Given the description of an element on the screen output the (x, y) to click on. 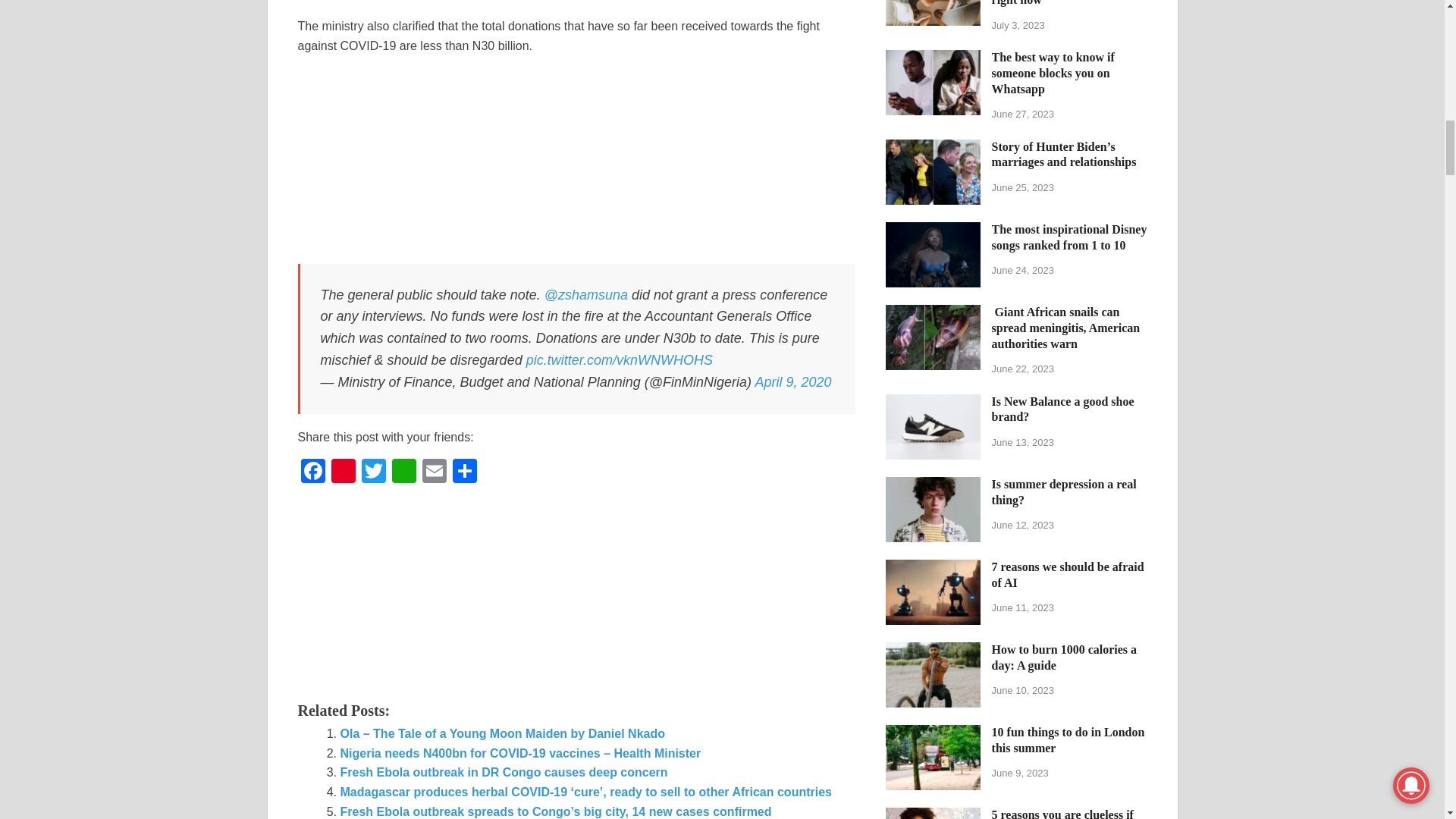
Facebook (312, 472)
WhatsApp (403, 472)
Twitter (373, 472)
April 9, 2020 (792, 381)
Fresh Ebola outbreak in DR Congo causes deep concern (502, 771)
Twitter (373, 472)
WhatsApp (403, 472)
Pinterest (342, 472)
Pinterest (342, 472)
Email (433, 472)
Facebook (312, 472)
